Given the description of an element on the screen output the (x, y) to click on. 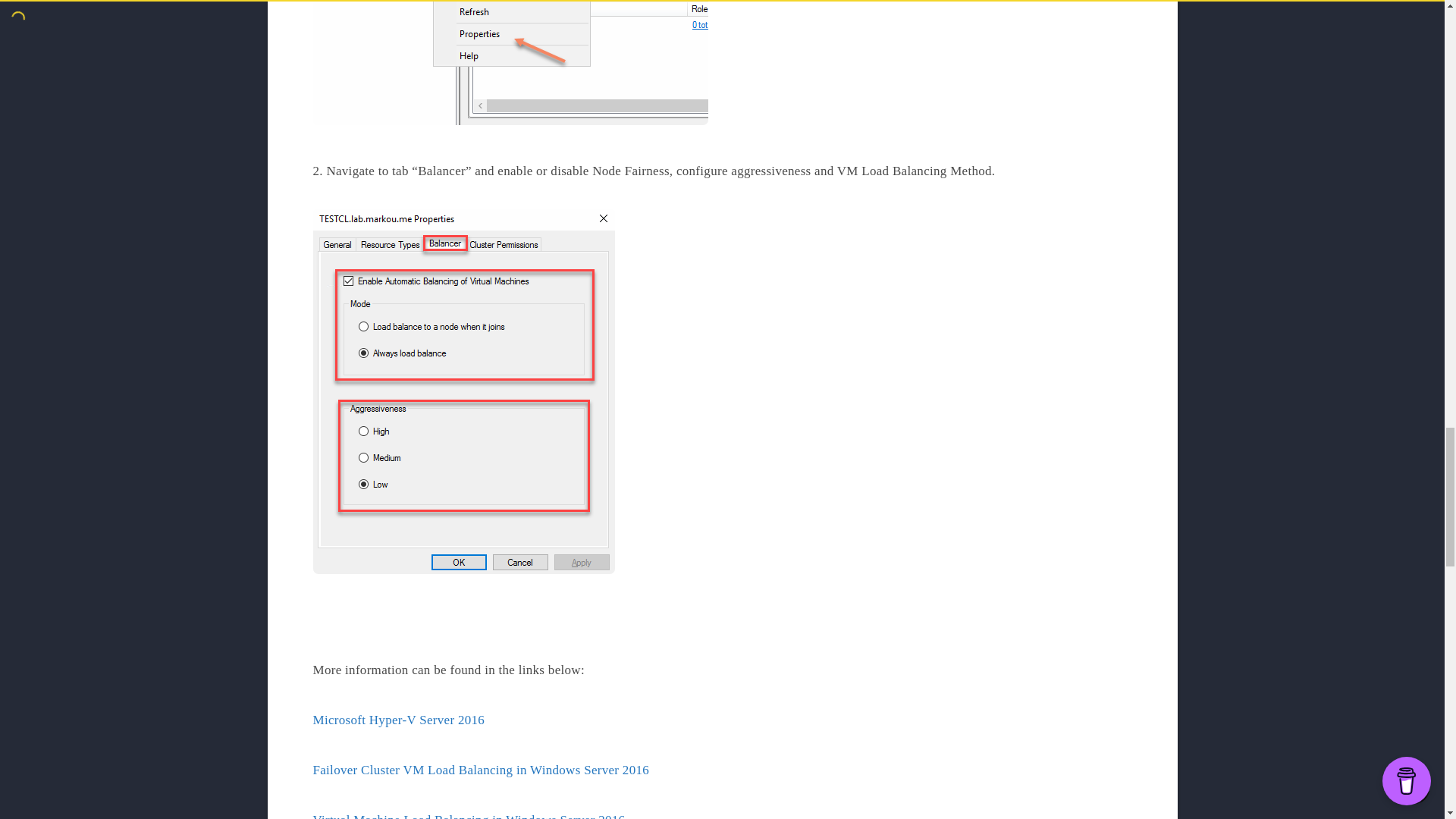
Virtual Machine Load Balancing in Windows Server 2016 (468, 816)
Failover Cluster VM Load Balancing in Windows Server 2016 (481, 769)
Microsoft Hyper-V Server 2016 (398, 719)
